Given the description of an element on the screen output the (x, y) to click on. 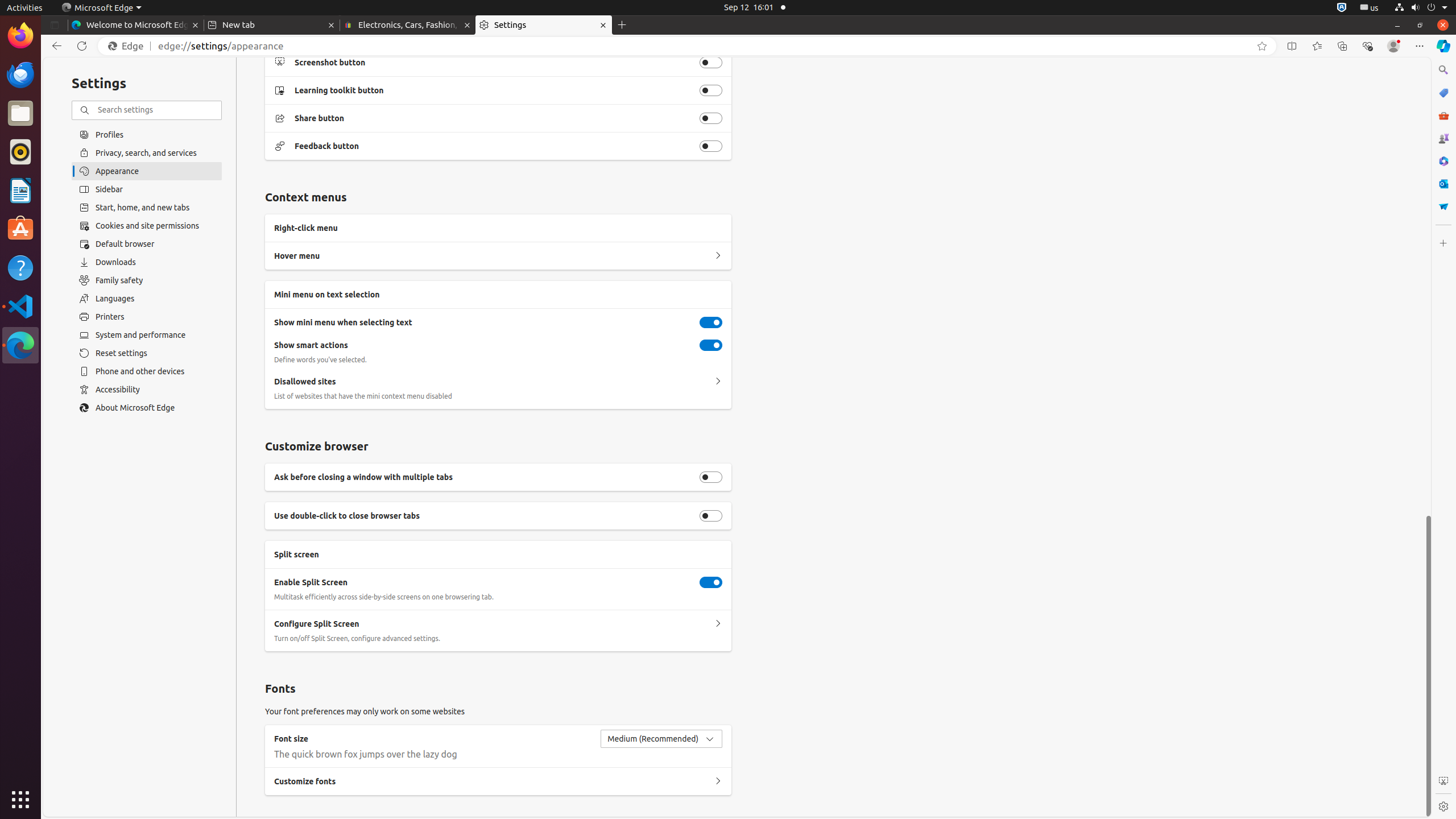
Microsoft Edge Element type: menu (101, 7)
Edge Element type: push-button (128, 46)
Accessibility Element type: tree-item (146, 389)
Cookies and site permissions Element type: tree-item (146, 225)
Configure Split Screen Element type: push-button (717, 623)
